Given the description of an element on the screen output the (x, y) to click on. 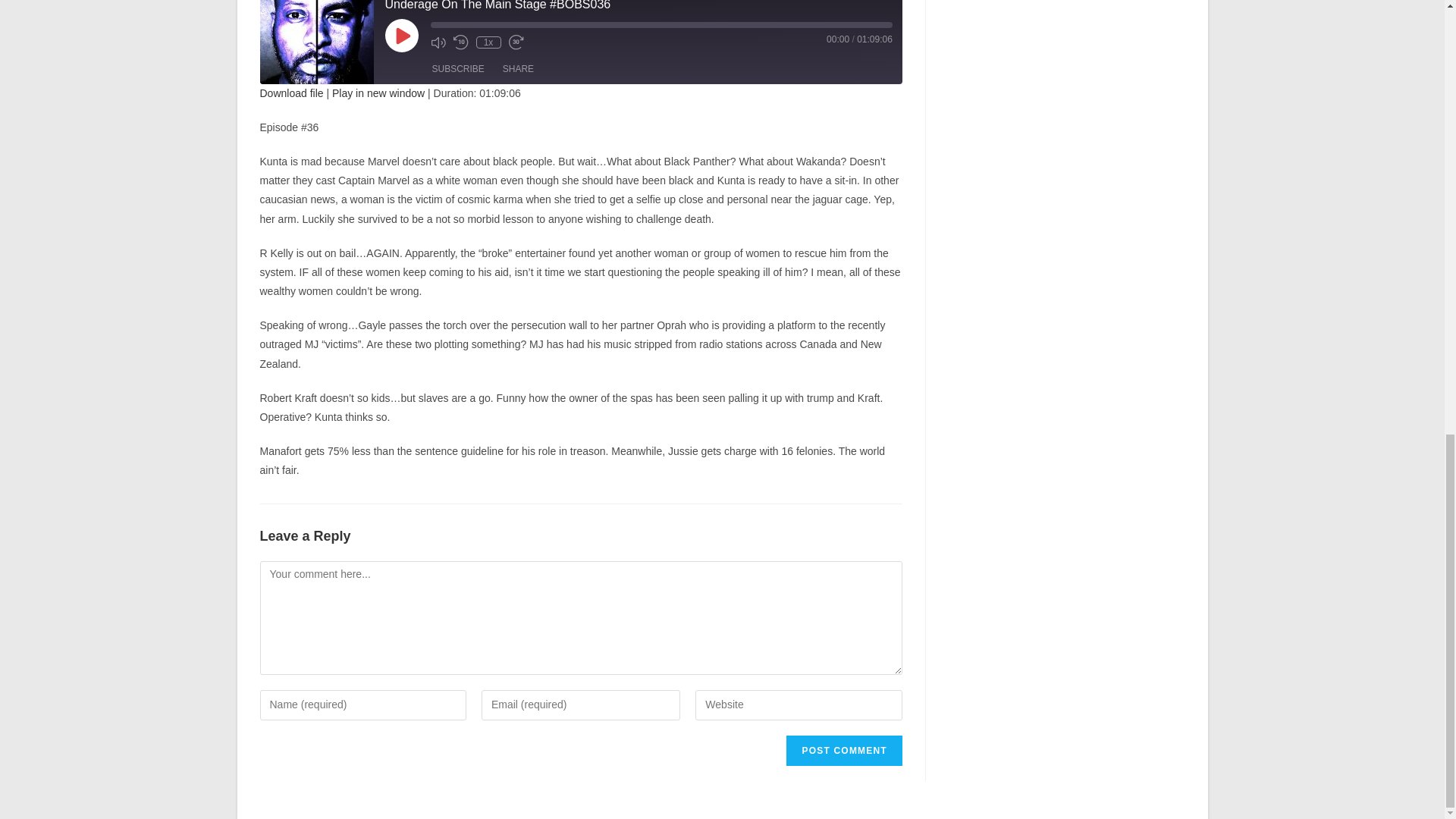
Black On Both Sides (315, 42)
Playback Speed (488, 42)
Share (518, 68)
1x (488, 42)
Play (402, 35)
Rewind 10 seconds (460, 42)
Rewind 10 Seconds (460, 42)
Fast Forward 30 seconds (515, 42)
Post Comment (843, 750)
Seek (661, 24)
